Given the description of an element on the screen output the (x, y) to click on. 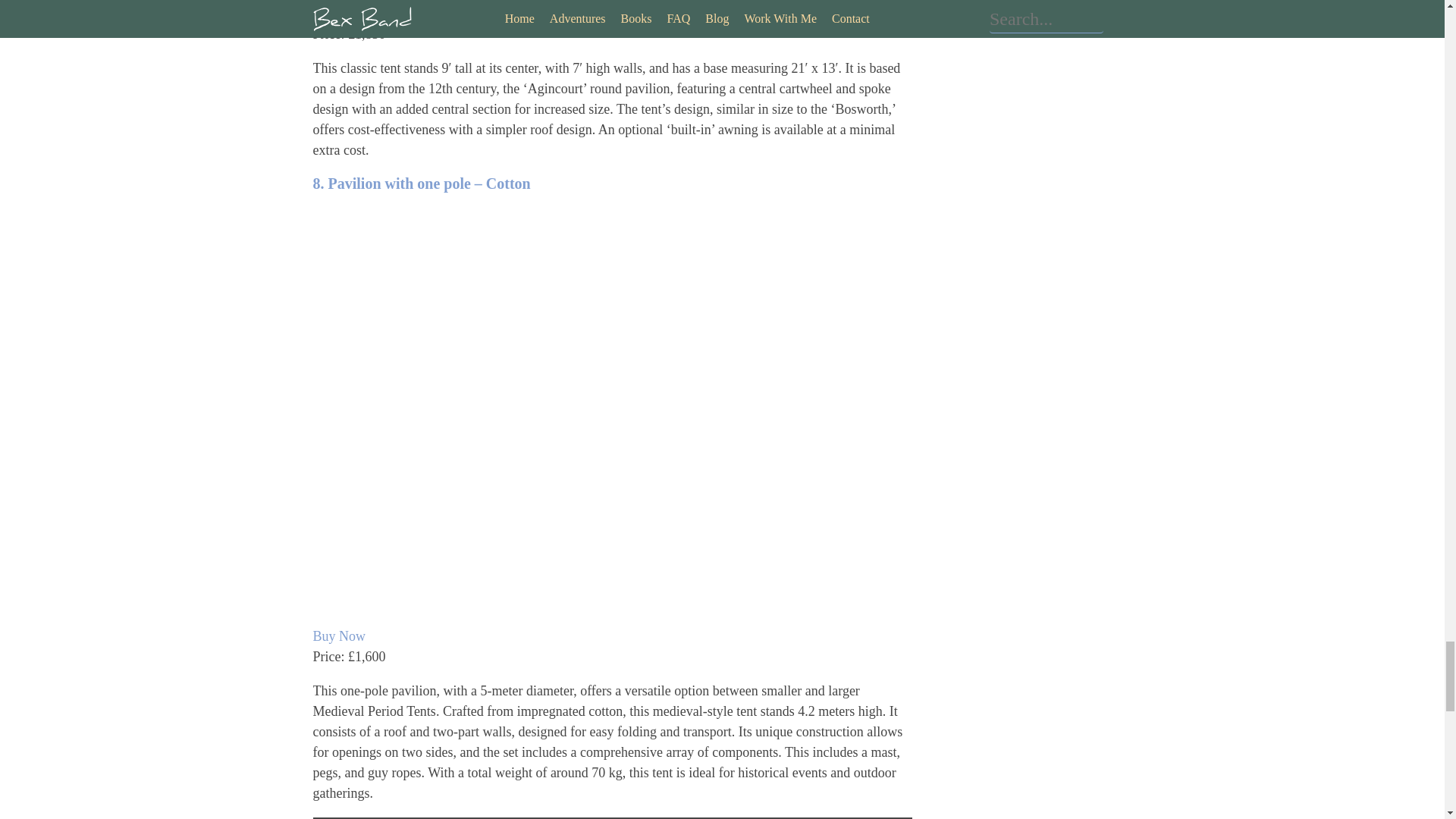
Bu (321, 13)
y Now (347, 13)
Buy Now (339, 635)
